Given the description of an element on the screen output the (x, y) to click on. 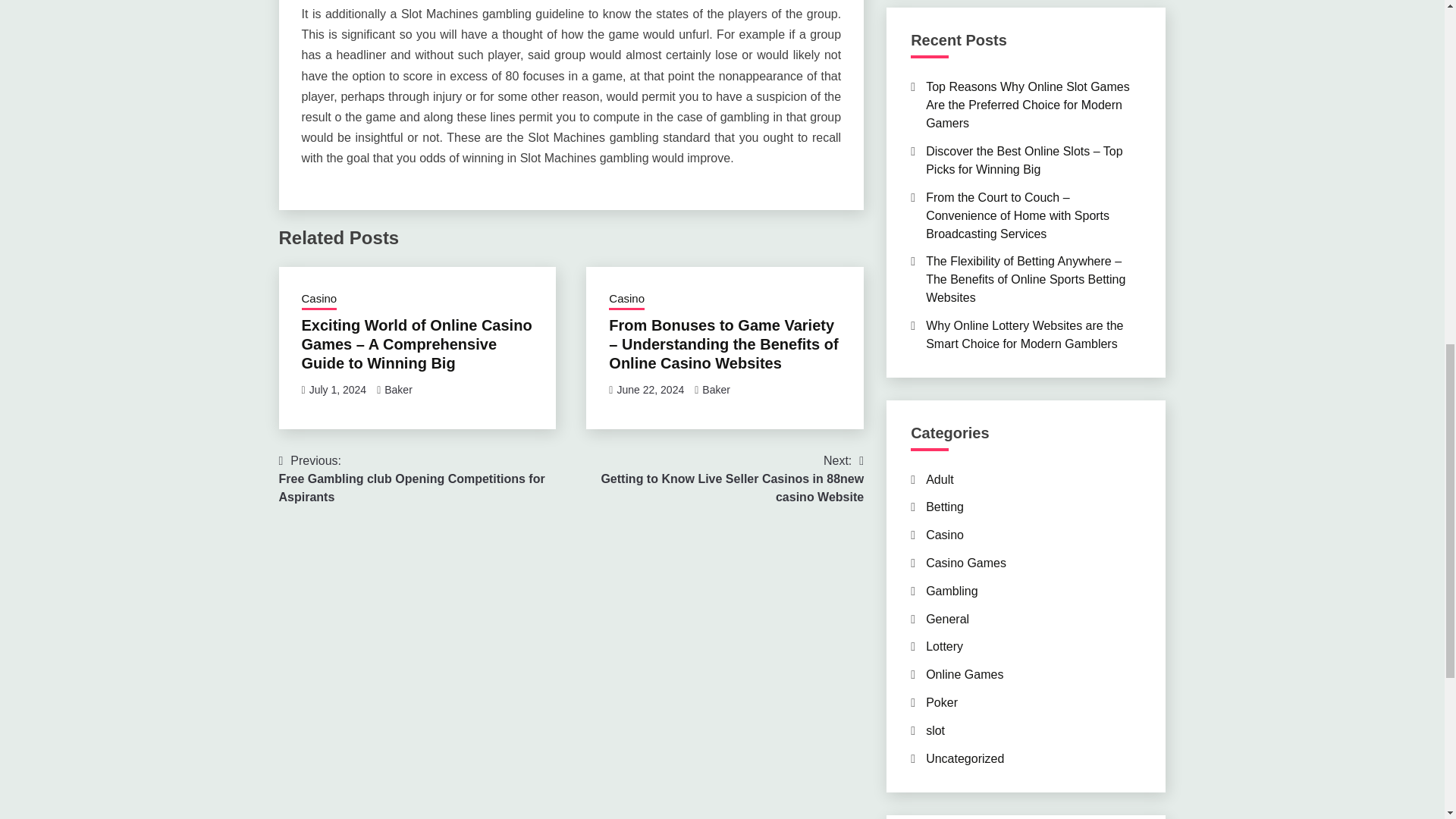
Gambling (951, 590)
July 1, 2024 (337, 389)
Casino (944, 534)
Casino Games (966, 562)
June 22, 2024 (649, 389)
Casino (626, 300)
Baker (398, 389)
Casino (319, 300)
Baker (715, 389)
Adult (939, 479)
Betting (944, 506)
